Given the description of an element on the screen output the (x, y) to click on. 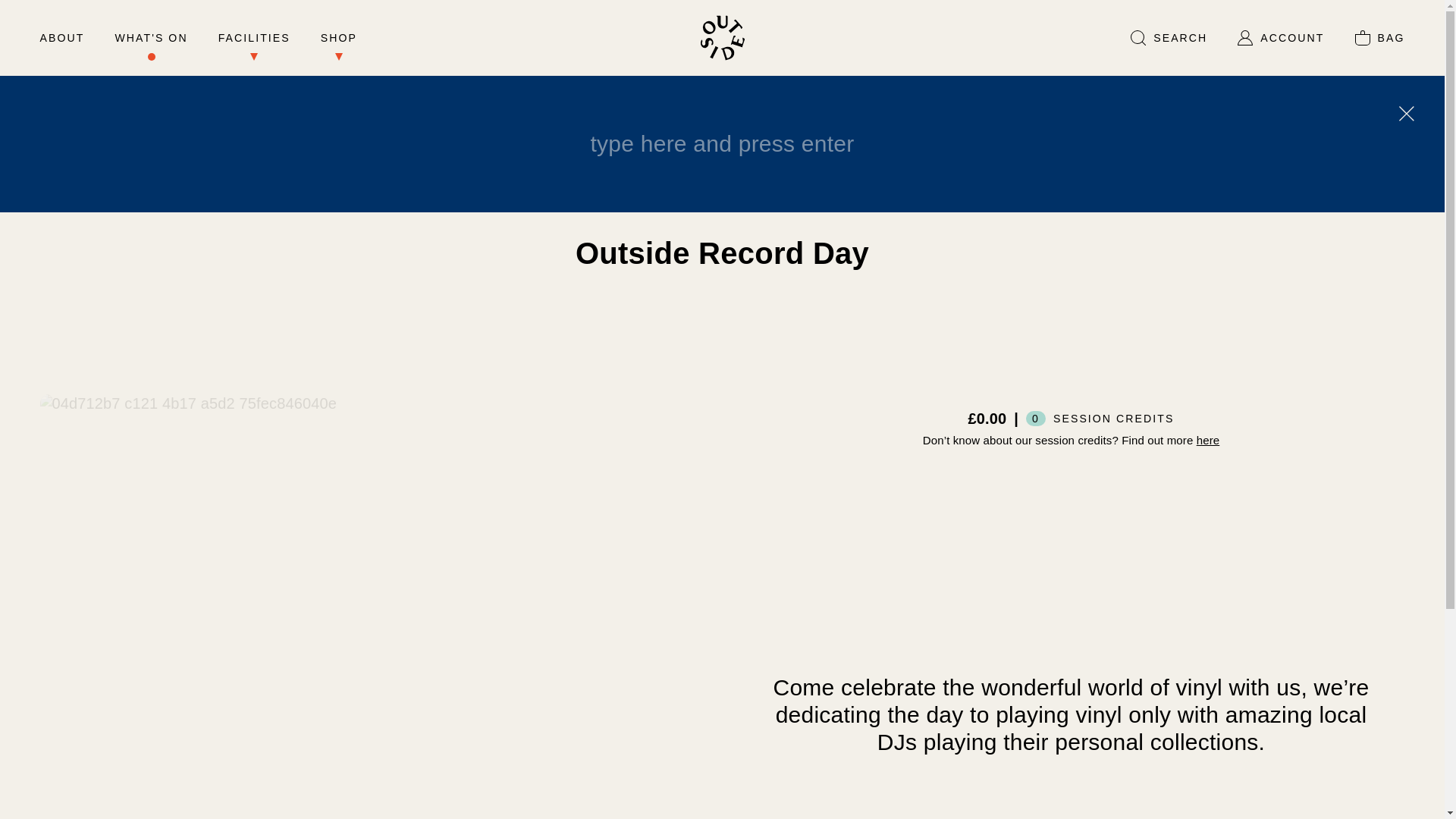
SEARCH (1169, 45)
WHAT'S ON (151, 45)
FACILITIES (253, 45)
ACCOUNT (1280, 45)
here (1208, 440)
